Given the description of an element on the screen output the (x, y) to click on. 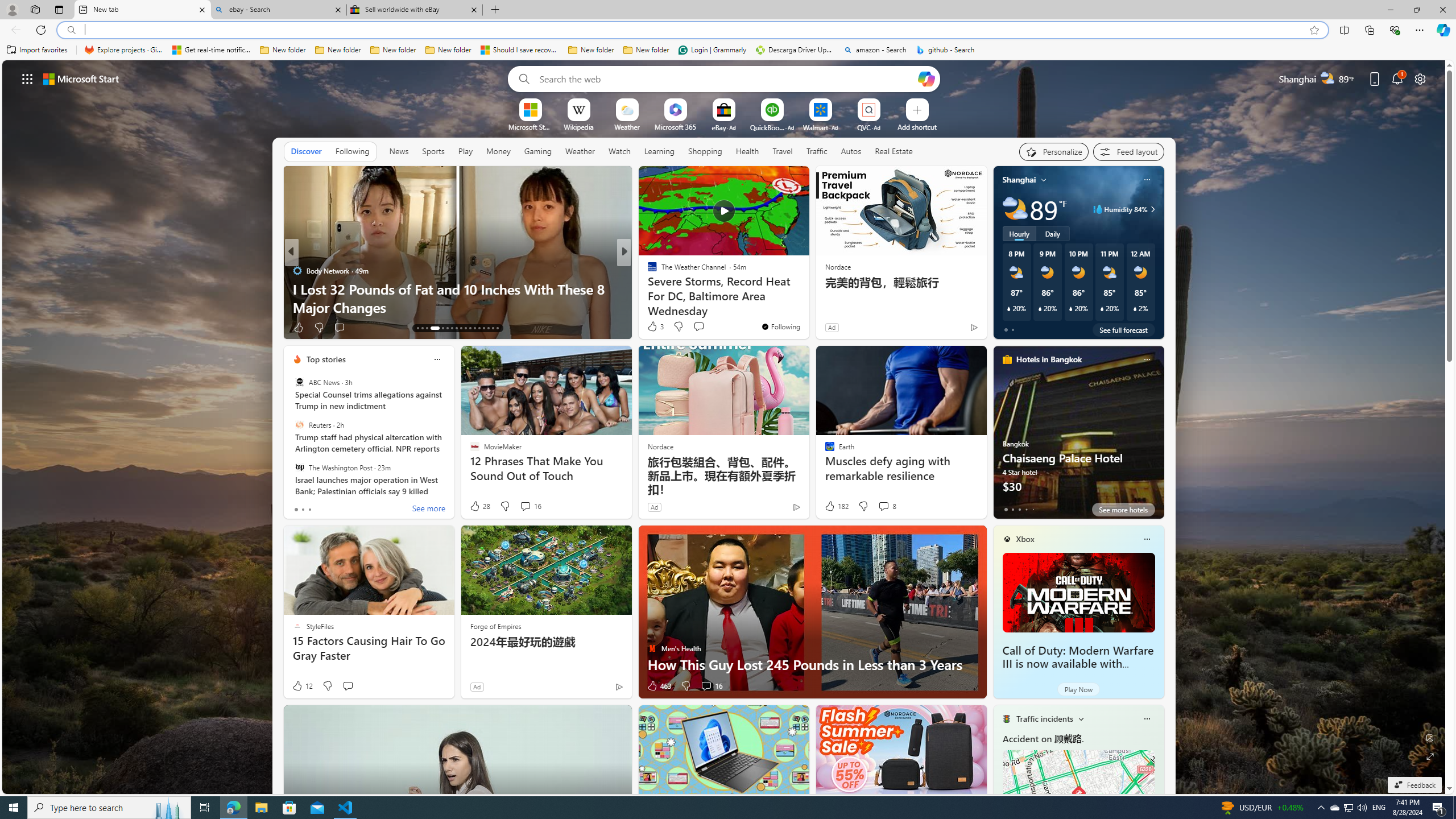
116 Like (654, 327)
32 Like (652, 327)
Weather (579, 151)
Partly cloudy (1014, 208)
Autos (851, 151)
Discover (306, 151)
Hide this story (774, 179)
Learning (659, 151)
